Given the description of an element on the screen output the (x, y) to click on. 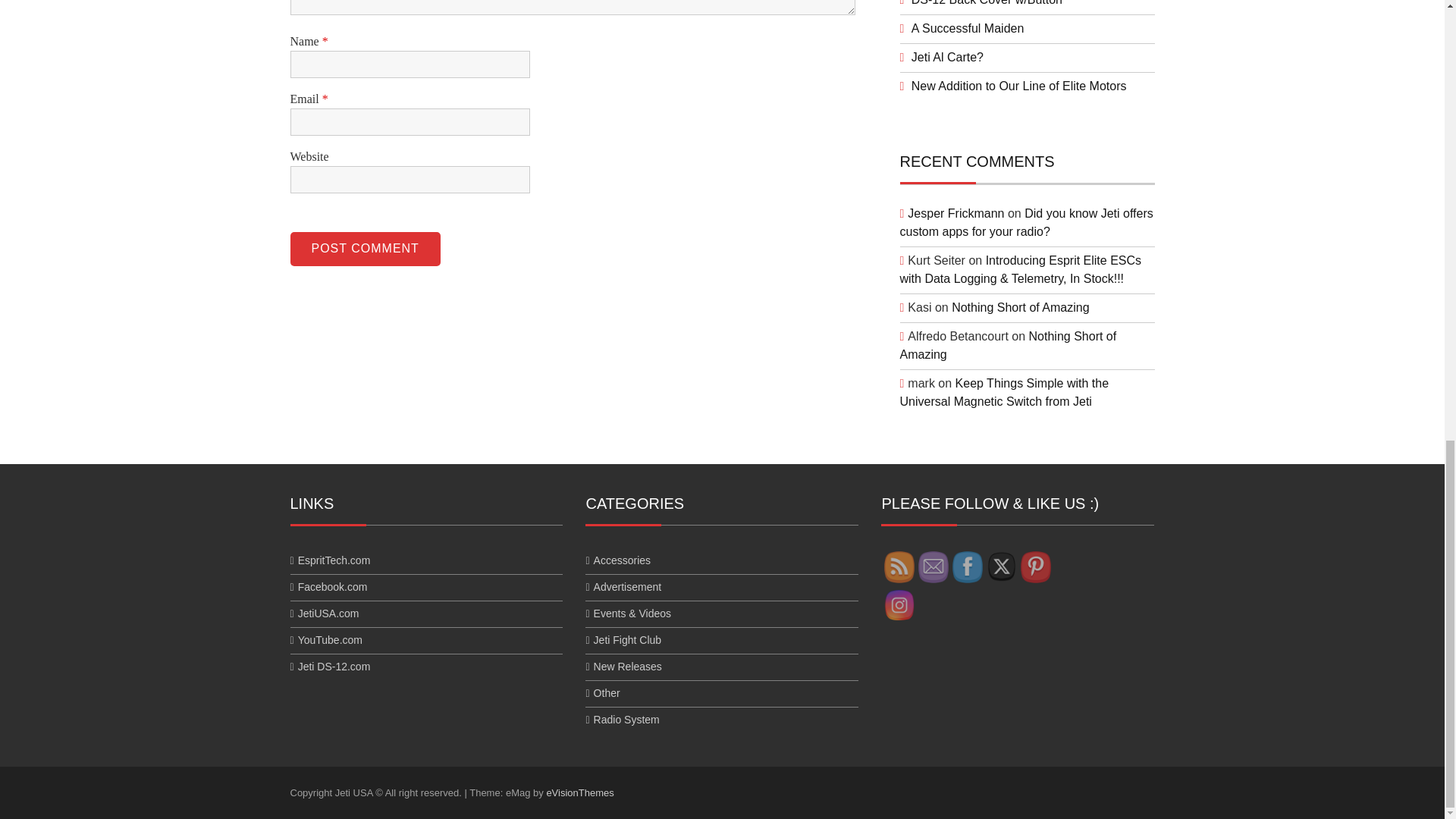
Post Comment (364, 248)
Post Comment (364, 248)
